Given the description of an element on the screen output the (x, y) to click on. 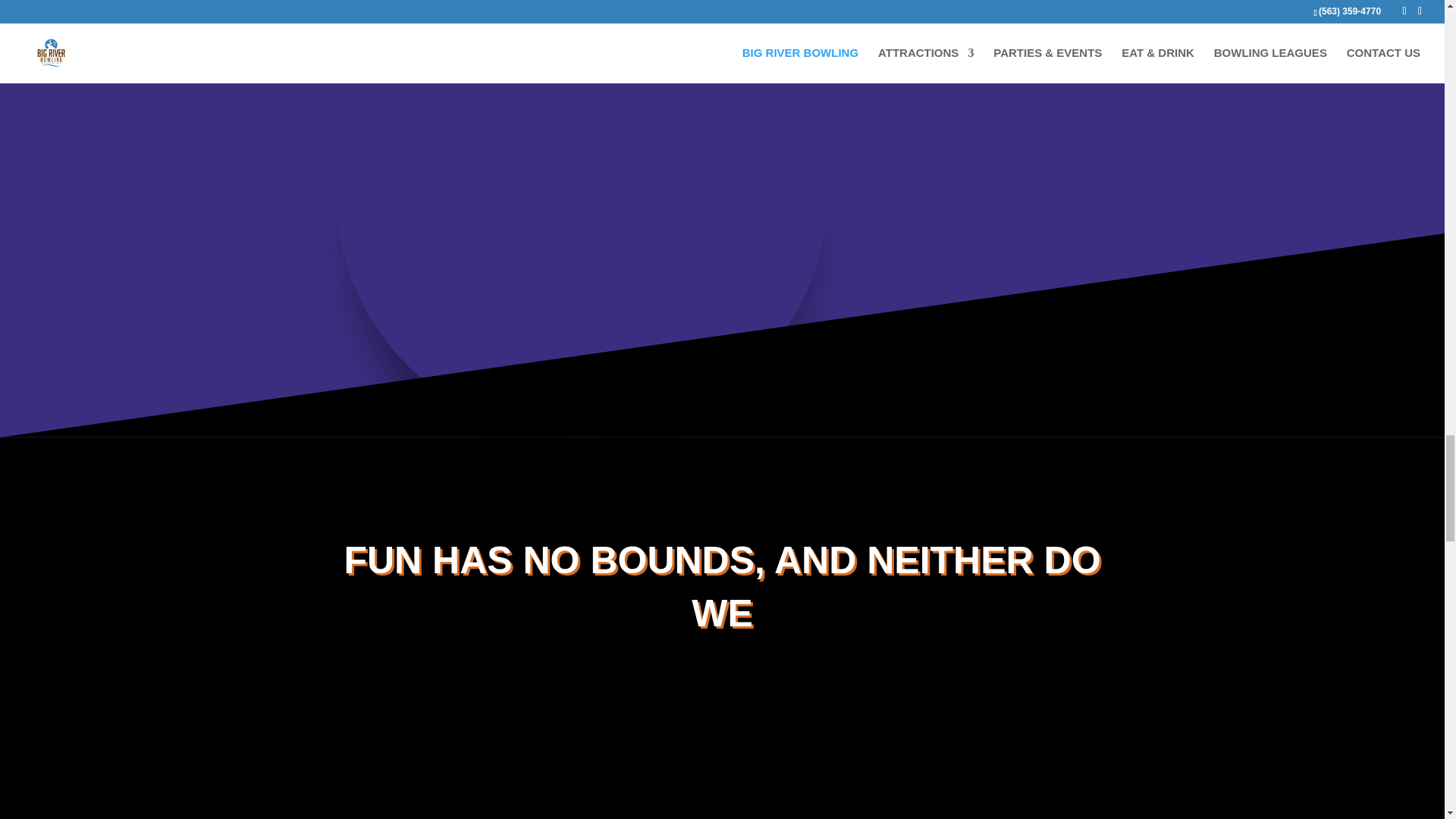
LEARN MORE (1067, 48)
